Given the description of an element on the screen output the (x, y) to click on. 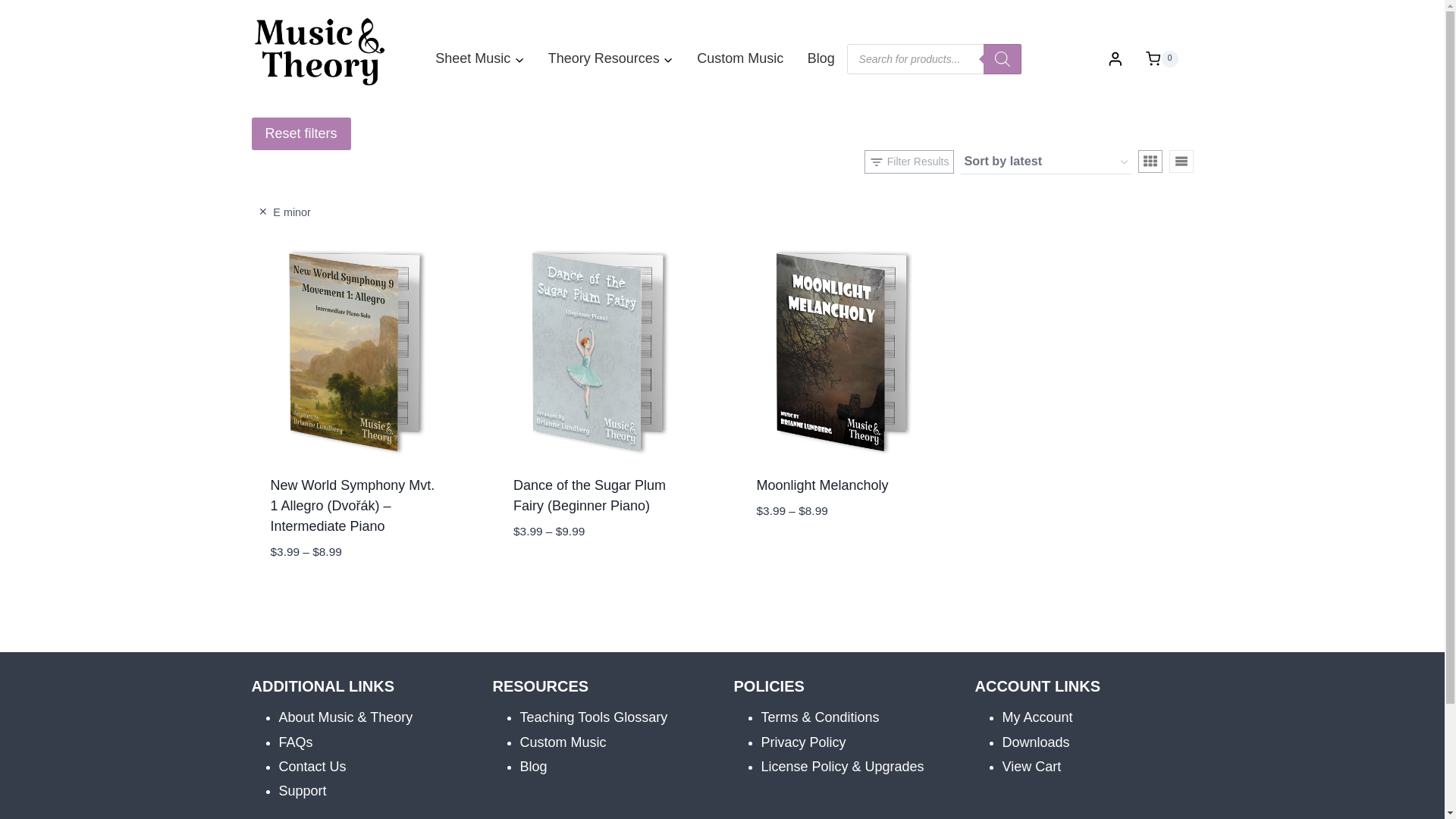
Reset filters (300, 133)
List View (1181, 160)
Custom Music (740, 57)
0 (1161, 58)
Blog (820, 57)
Sheet Music (479, 57)
Theory Resources (610, 57)
Grid View (1149, 160)
